Given the description of an element on the screen output the (x, y) to click on. 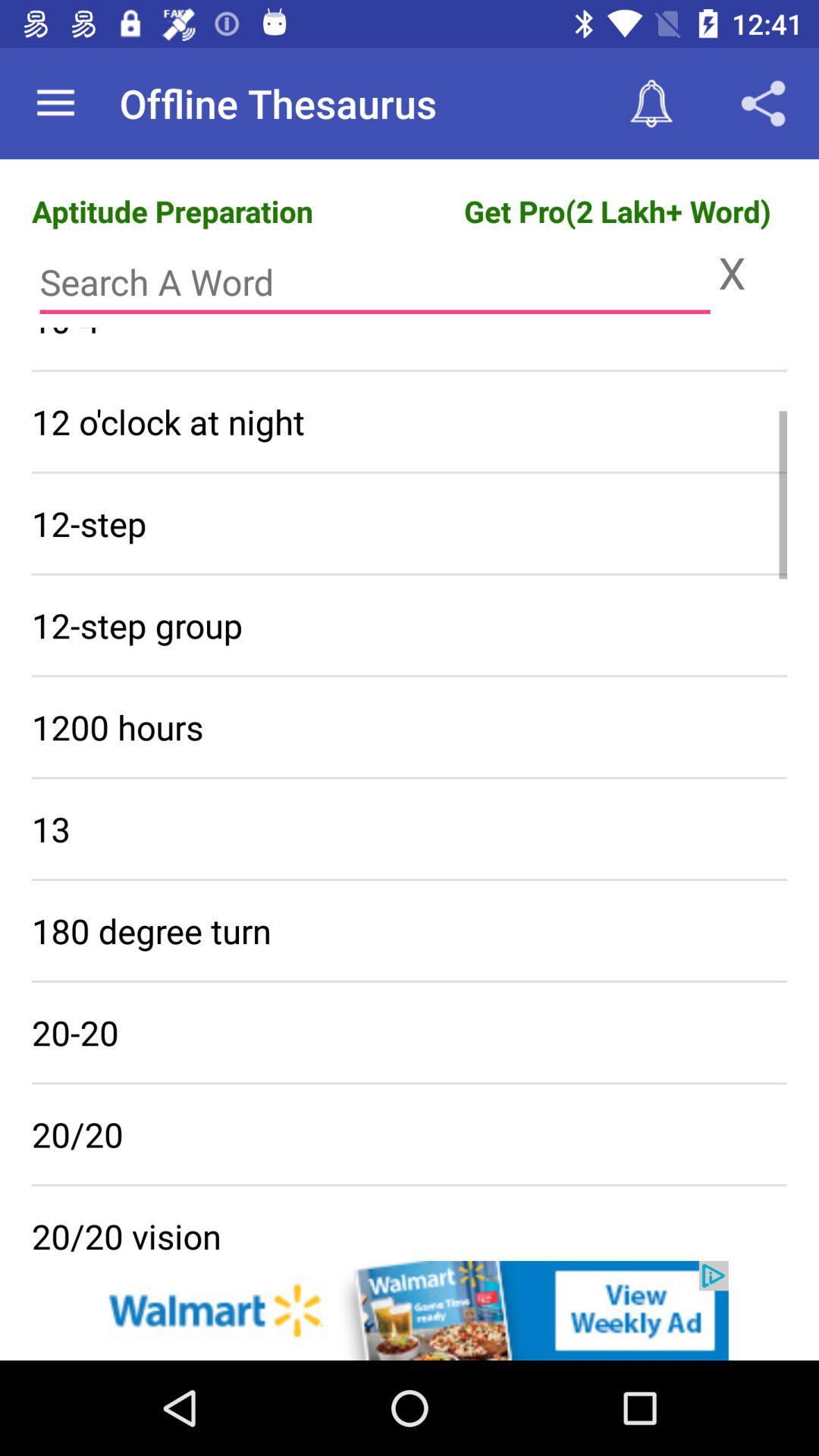
advertisement (409, 1310)
